Given the description of an element on the screen output the (x, y) to click on. 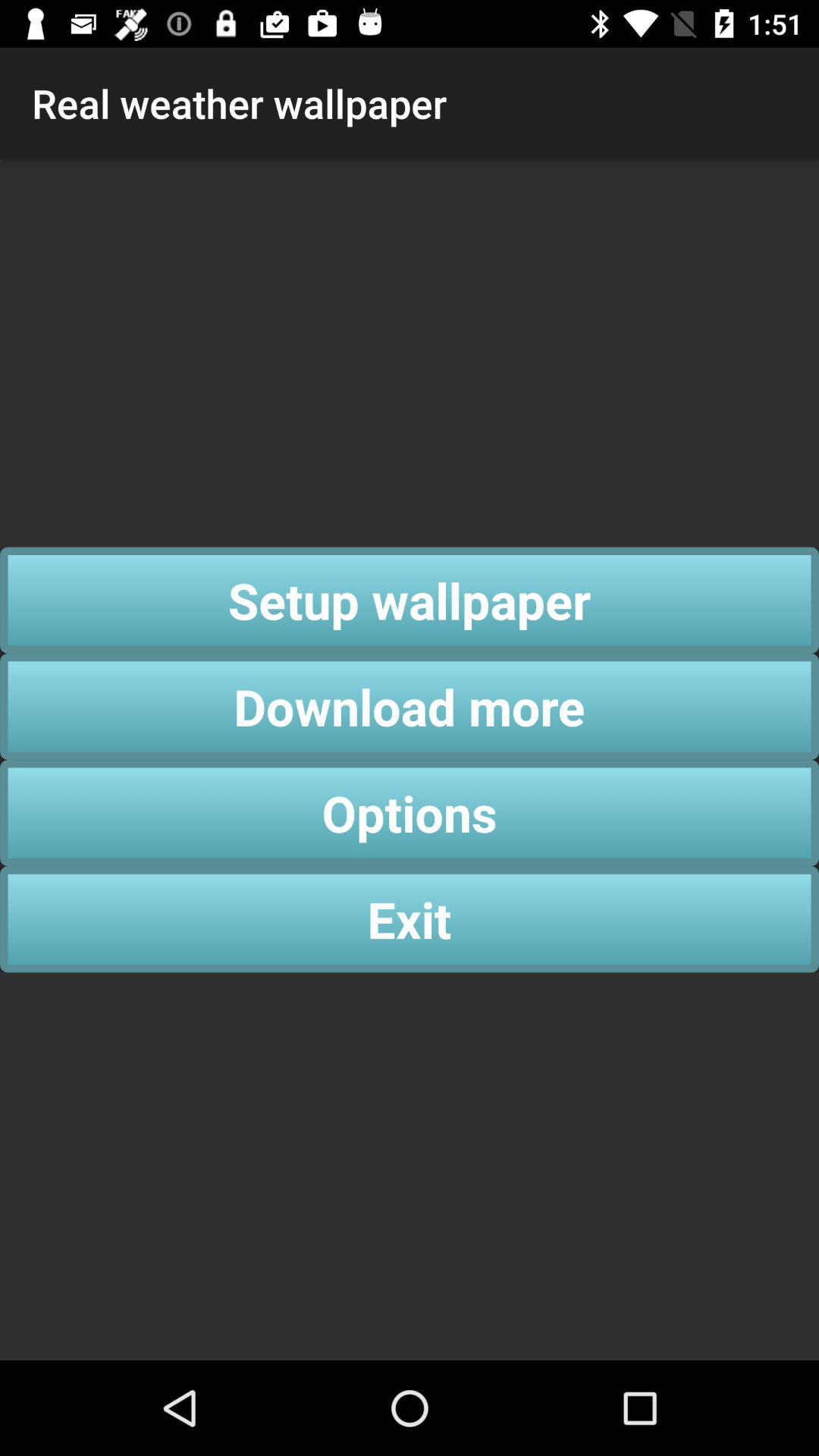
turn on the item below the setup wallpaper icon (409, 706)
